Given the description of an element on the screen output the (x, y) to click on. 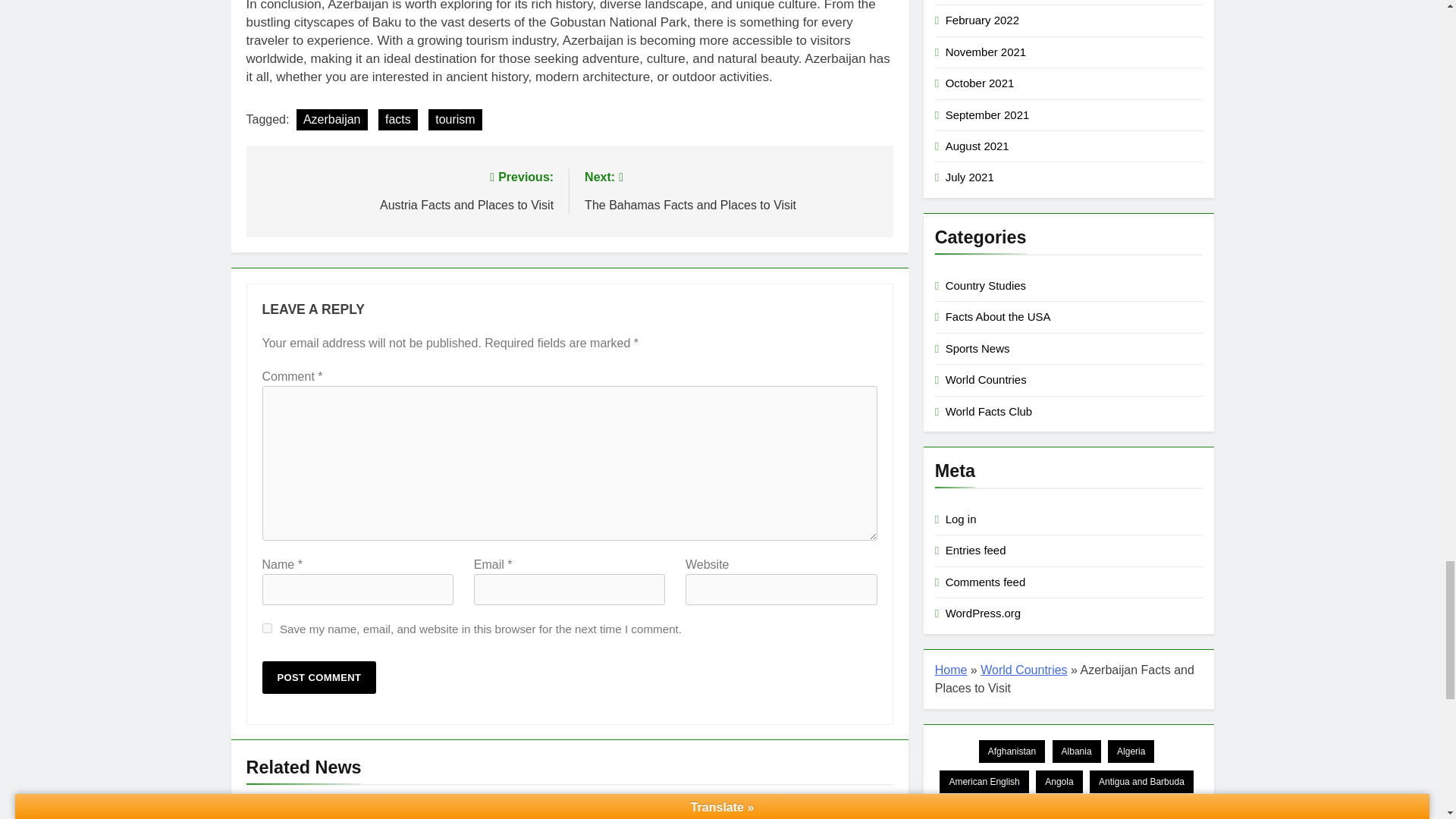
yes (267, 628)
Post Comment (319, 676)
